Given the description of an element on the screen output the (x, y) to click on. 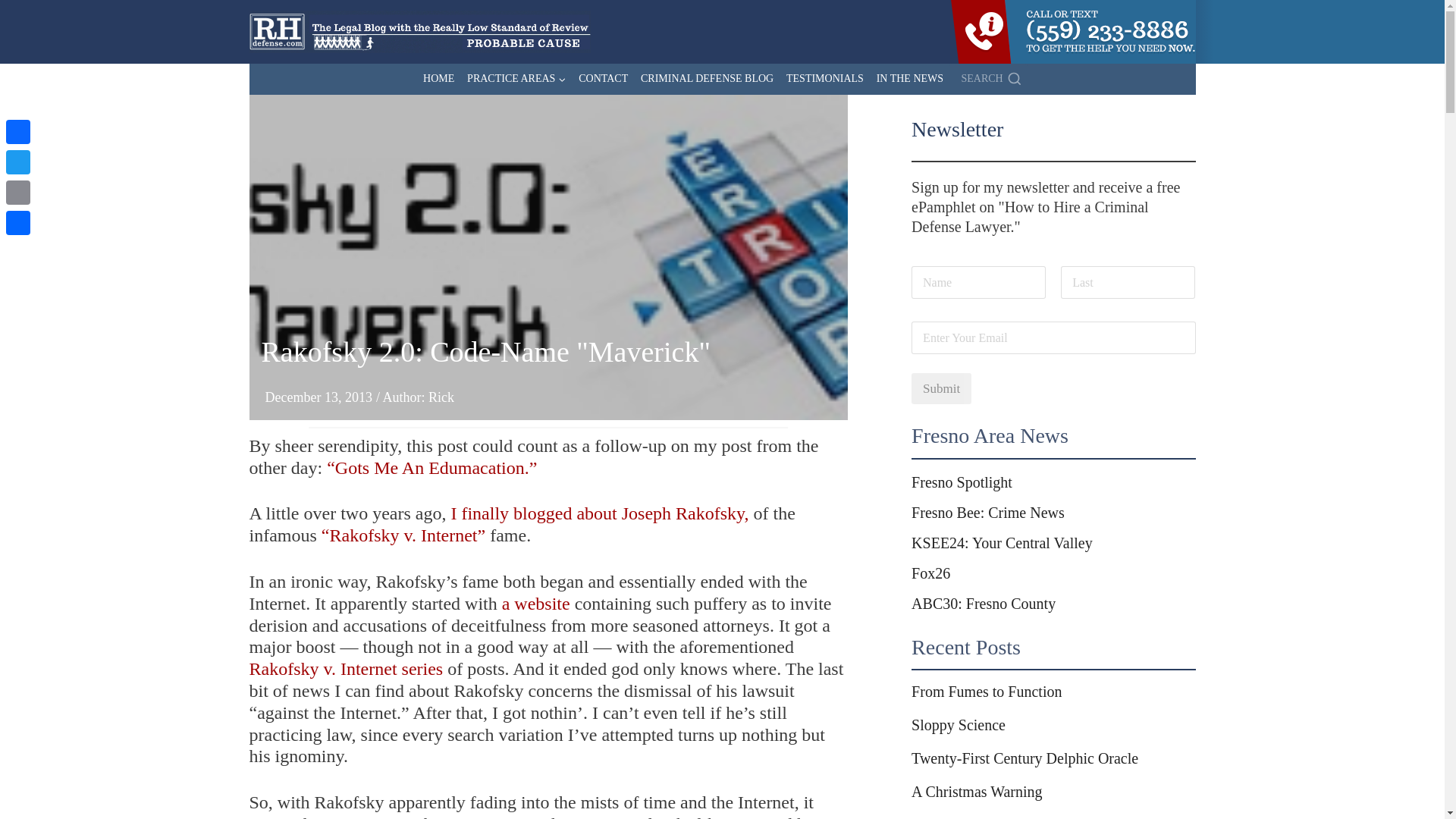
a website (536, 603)
Rakofsky v. Internet: Case Dismissed (402, 535)
I finally blogged about Joseph Rakofsky, (598, 513)
Rakofsky v. Internet series (345, 668)
Gots Me An Edumacation (431, 467)
TESTIMONIALS (825, 79)
CRIMINAL DEFENSE BLOG (707, 79)
  SEARCH (988, 78)
PRACTICE AREAS (516, 79)
HOME (438, 79)
